Given the description of an element on the screen output the (x, y) to click on. 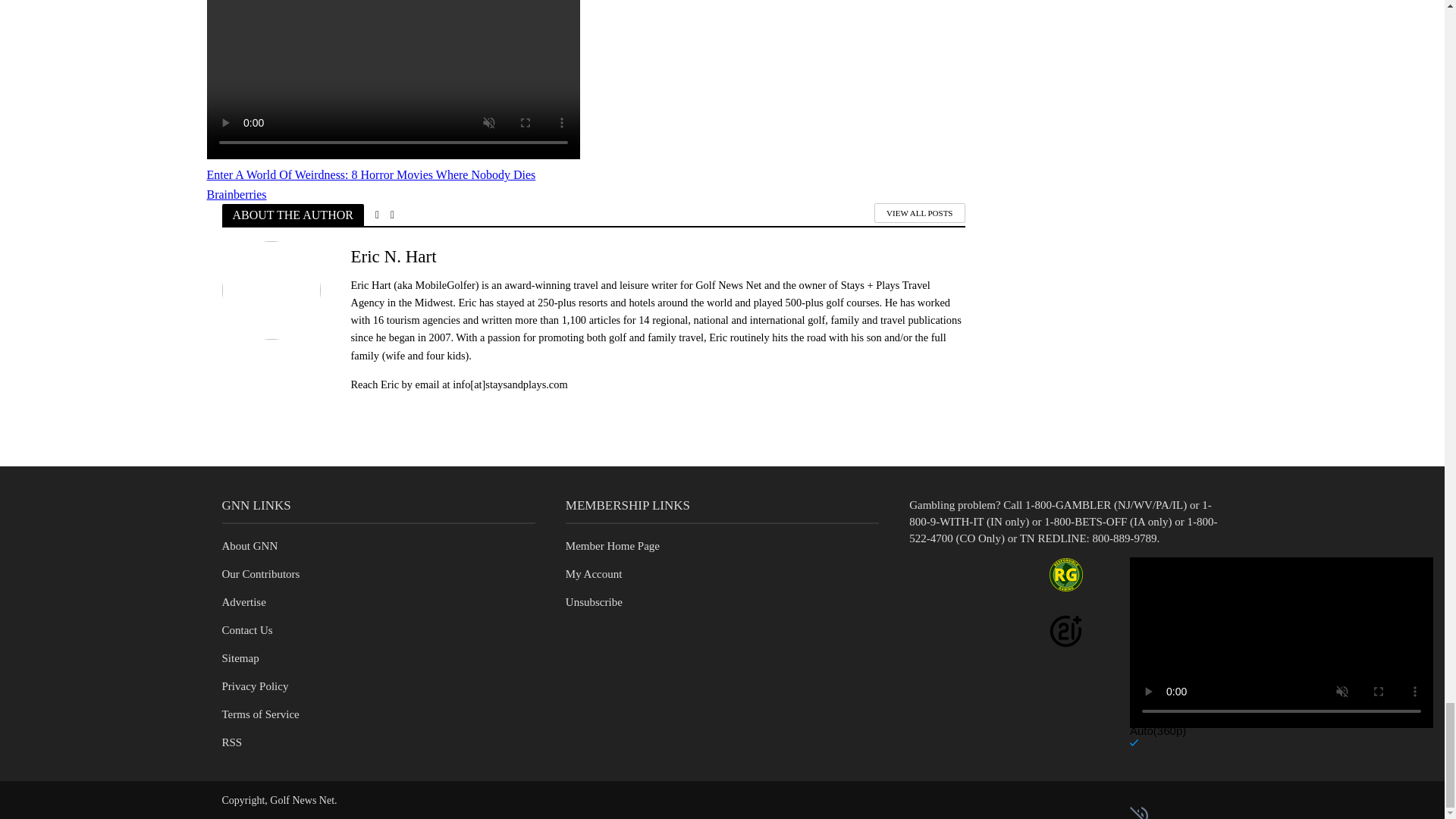
Advertising Info (242, 602)
Contact Page (246, 630)
RSS feed (231, 742)
Terms of Service (259, 714)
Contributors List (260, 573)
About Page (249, 545)
Privacy Policy (254, 686)
Sitemap (240, 657)
